Given the description of an element on the screen output the (x, y) to click on. 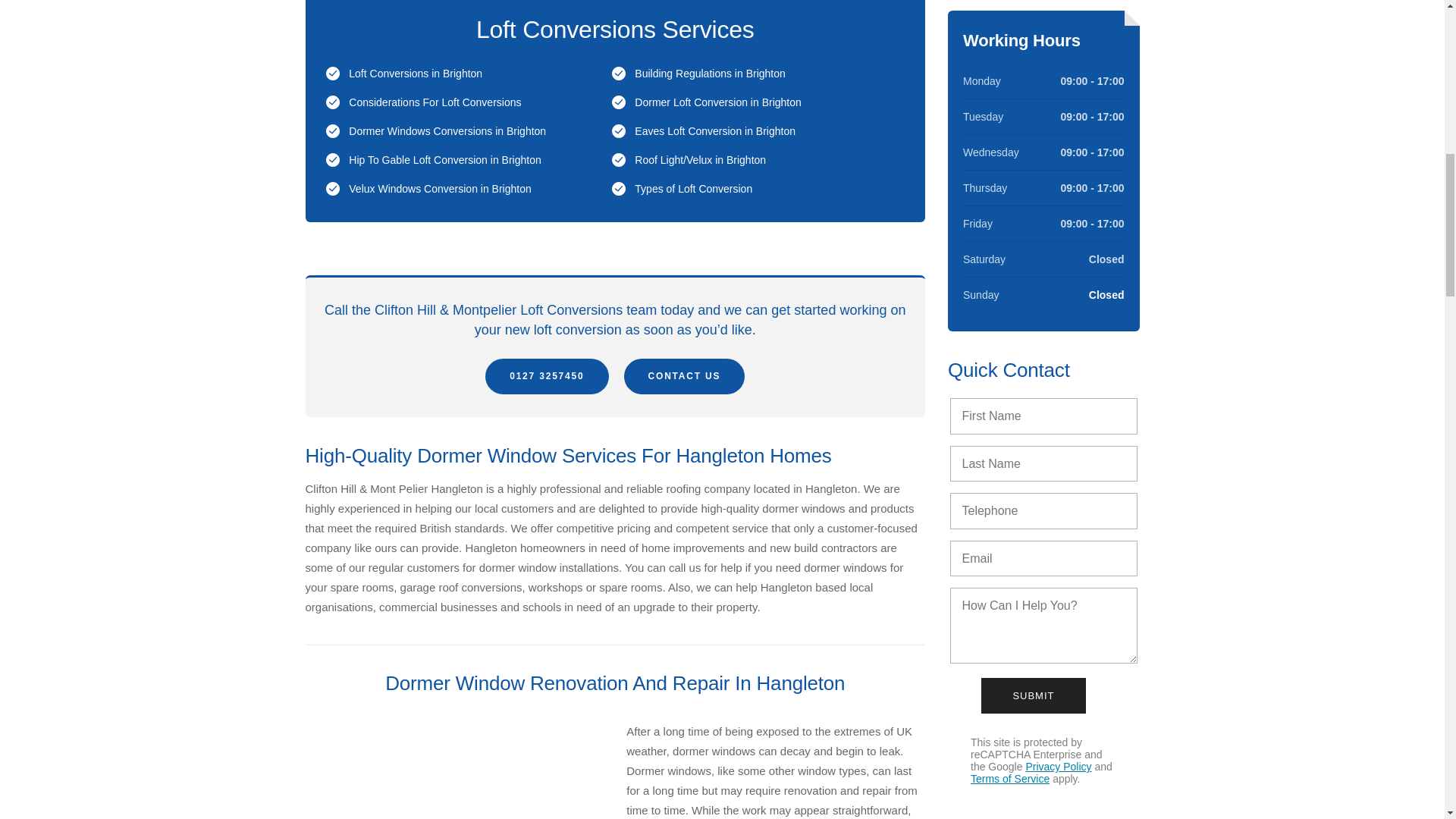
Considerations For Loft Conversions (435, 102)
Building Regulations in Brighton (709, 73)
Dormer Windows Conversions in Brighton (447, 131)
Types of Loft Conversion (693, 188)
Dormer Loft Conversion in Brighton (717, 102)
Loft Conversions in Brighton (415, 73)
Velux Windows Conversion in Brighton (440, 188)
Eaves Loft Conversion in Brighton (714, 131)
Hip To Gable Loft Conversion in Brighton (444, 159)
